Given the description of an element on the screen output the (x, y) to click on. 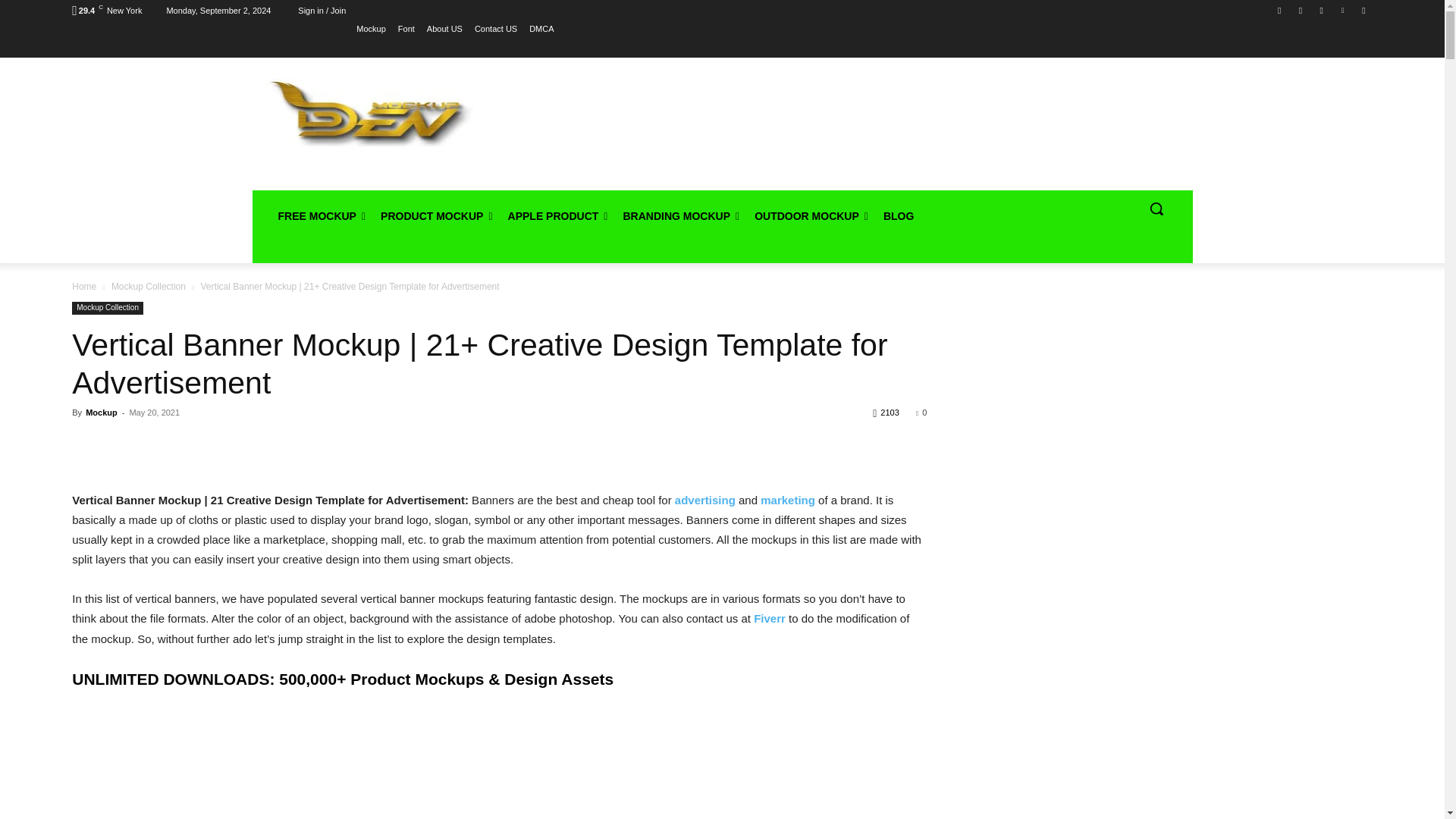
Youtube (1364, 9)
DMCA (541, 28)
Contact US (495, 28)
View all posts in Mockup Collection (149, 286)
Mockup (370, 28)
About US (444, 28)
FREE MOCKUP (320, 215)
Twitter (1321, 9)
Vimeo (1342, 9)
Instagram (1300, 9)
